Given the description of an element on the screen output the (x, y) to click on. 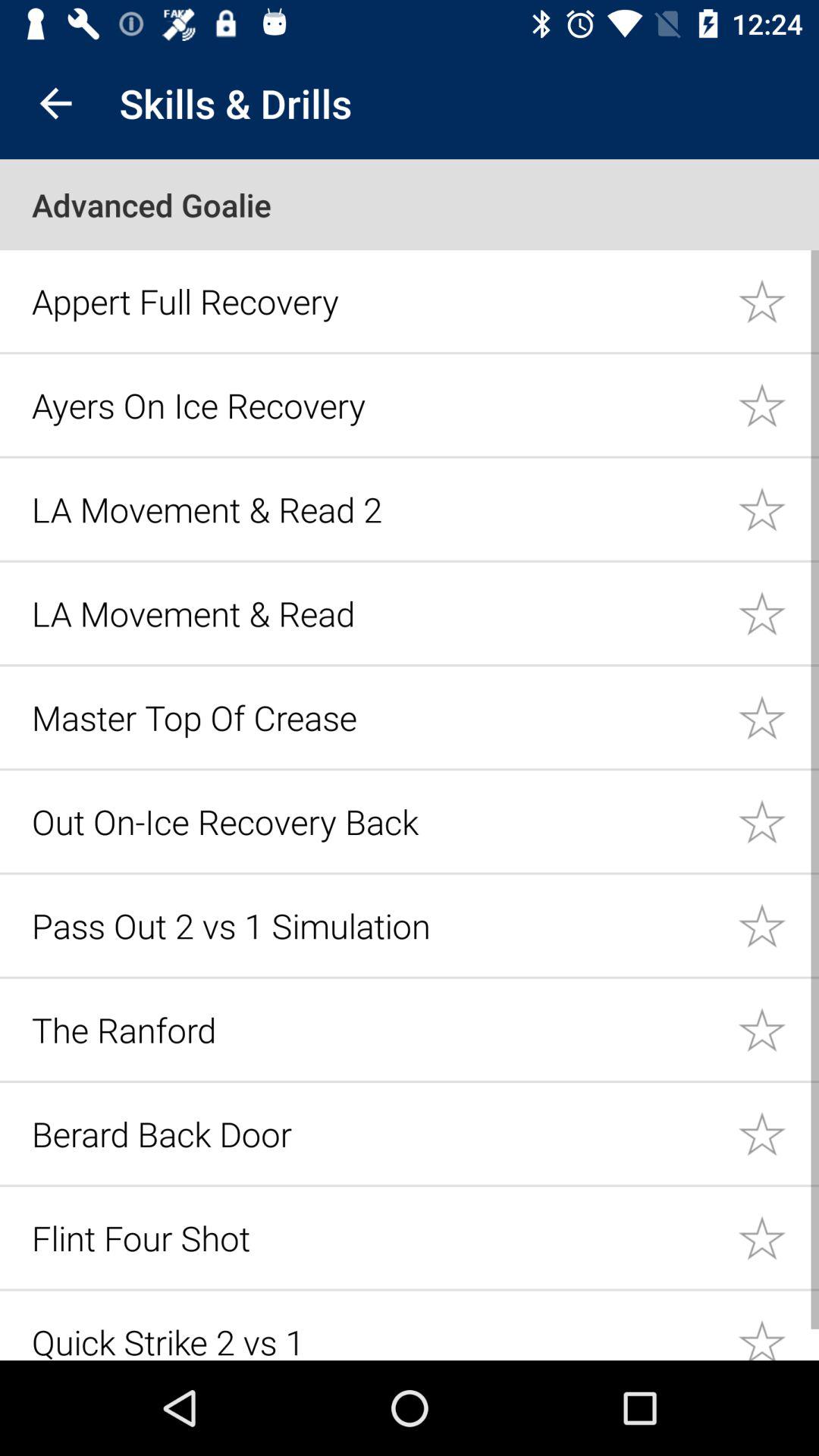
click the item next to skills & drills item (55, 103)
